Given the description of an element on the screen output the (x, y) to click on. 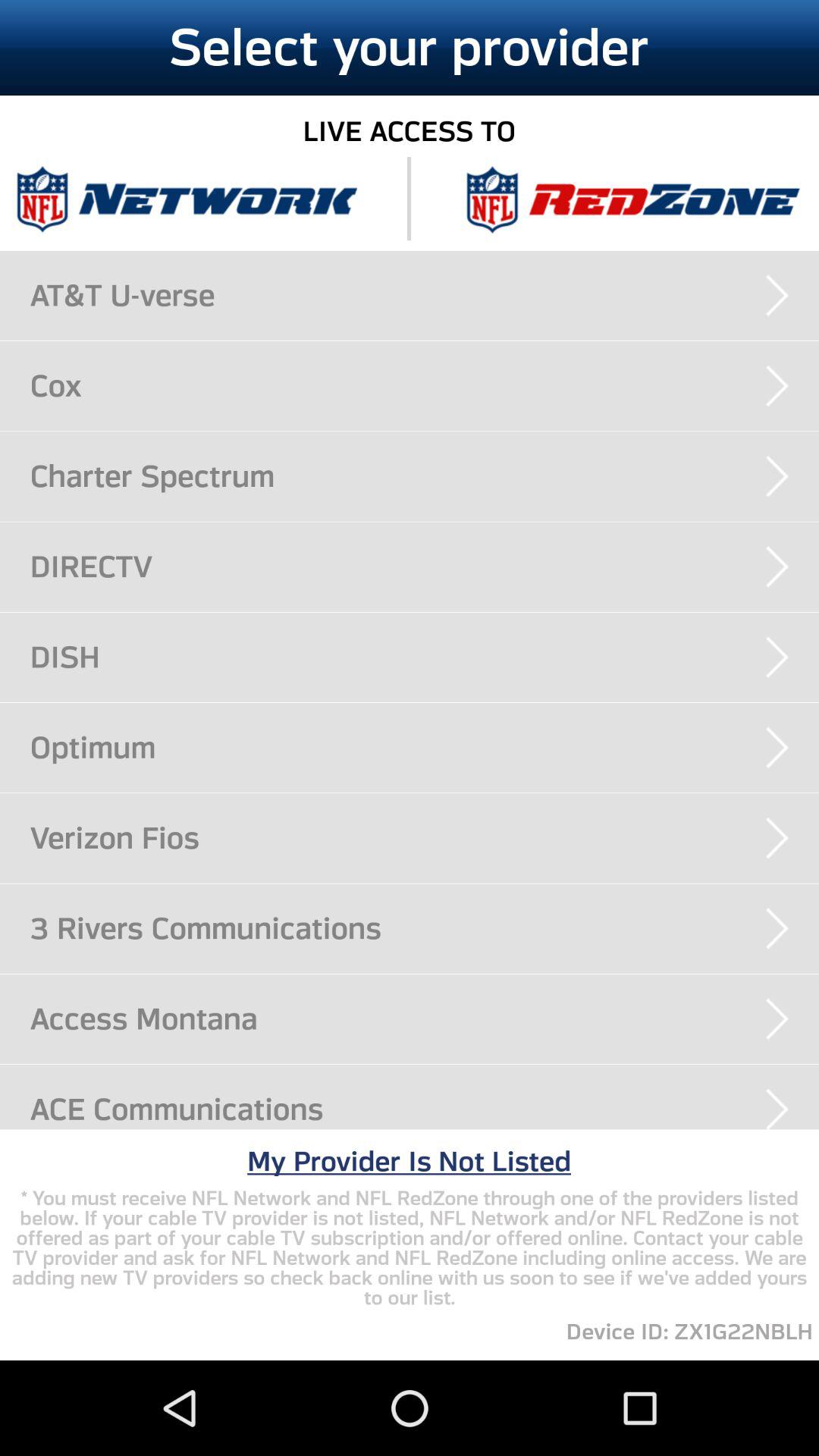
swipe to the access montana app (424, 1018)
